Given the description of an element on the screen output the (x, y) to click on. 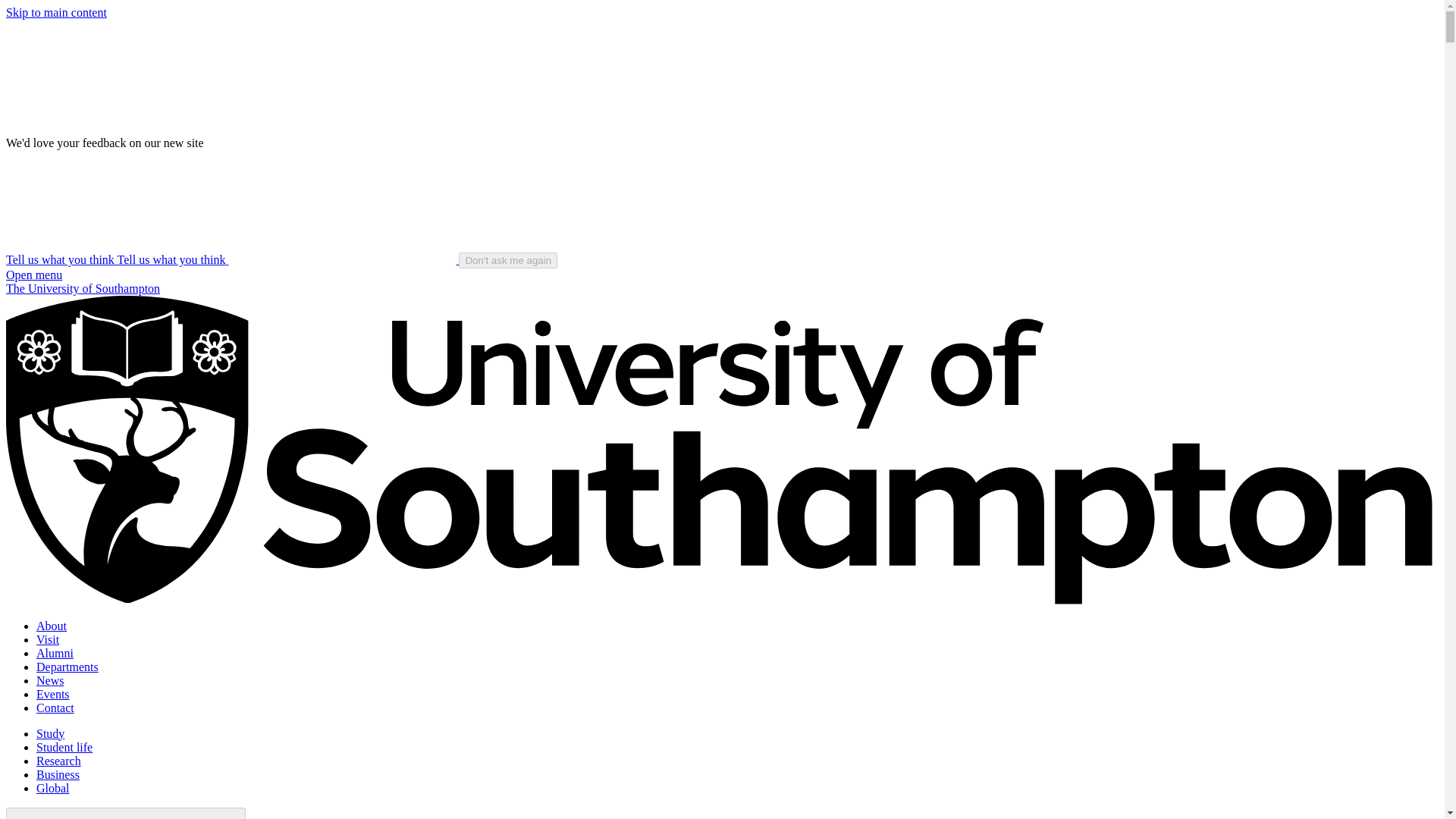
Business (58, 774)
Visit (47, 639)
Events (52, 694)
Global (52, 788)
Don't ask me again (507, 260)
Alumni (55, 653)
Study (50, 733)
Departments (67, 666)
Student life (64, 747)
Tell us what you think Tell us what you think (231, 259)
Contact (55, 707)
Skip to main content (55, 11)
Research (58, 760)
News (50, 680)
About (51, 625)
